Given the description of an element on the screen output the (x, y) to click on. 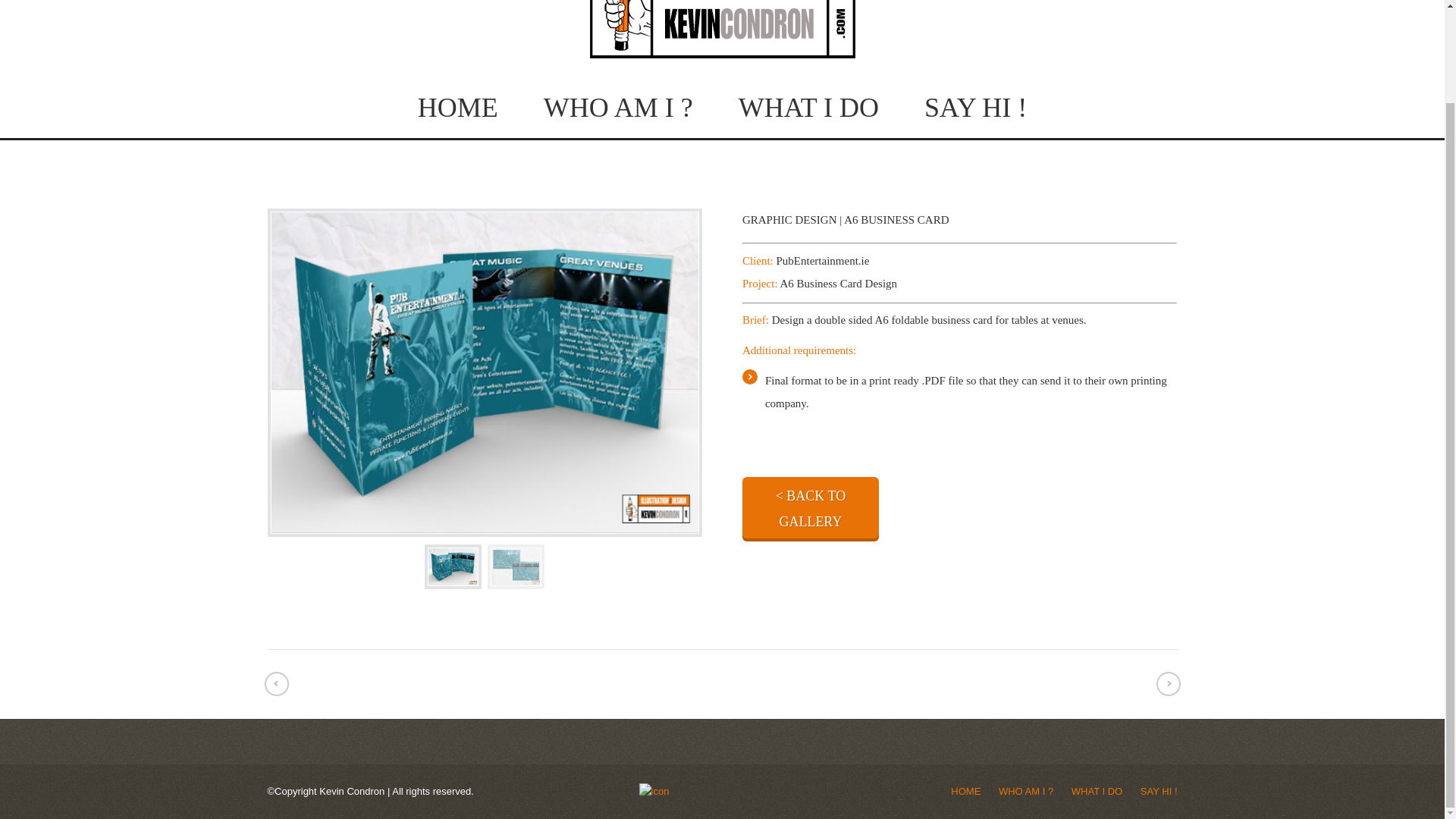
PubEntertainment.ie A6 Card (453, 566)
SAY HI ! (1158, 790)
HOME (964, 790)
HOME (457, 107)
WHO AM I ? (1025, 790)
WHAT I DO (808, 107)
WHO AM I ? (617, 107)
Layout (515, 566)
SAY HI ! (975, 107)
WHAT I DO (1096, 790)
